Given the description of an element on the screen output the (x, y) to click on. 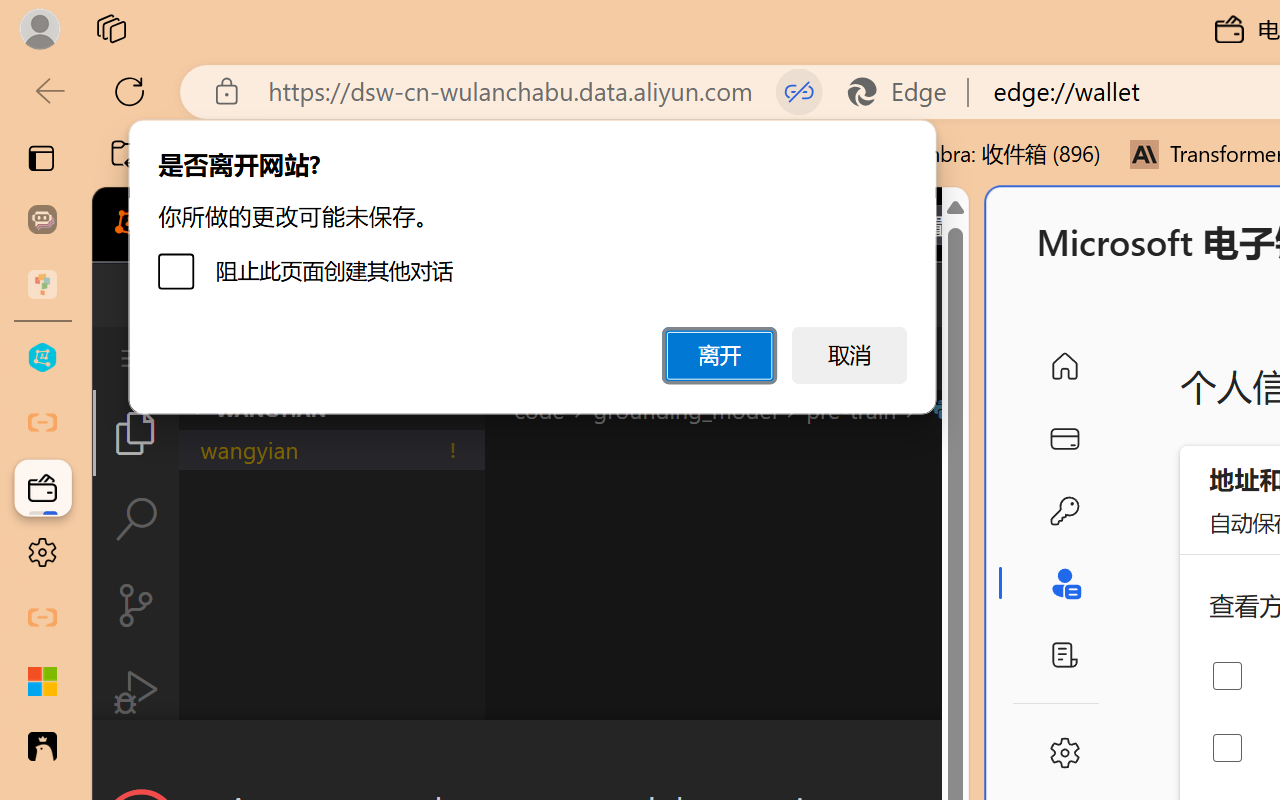
Adjust indents and spacing - Microsoft Support (42, 681)
Close Dialog (959, 756)
Run and Debug (Ctrl+Shift+D) (135, 692)
